Given the description of an element on the screen output the (x, y) to click on. 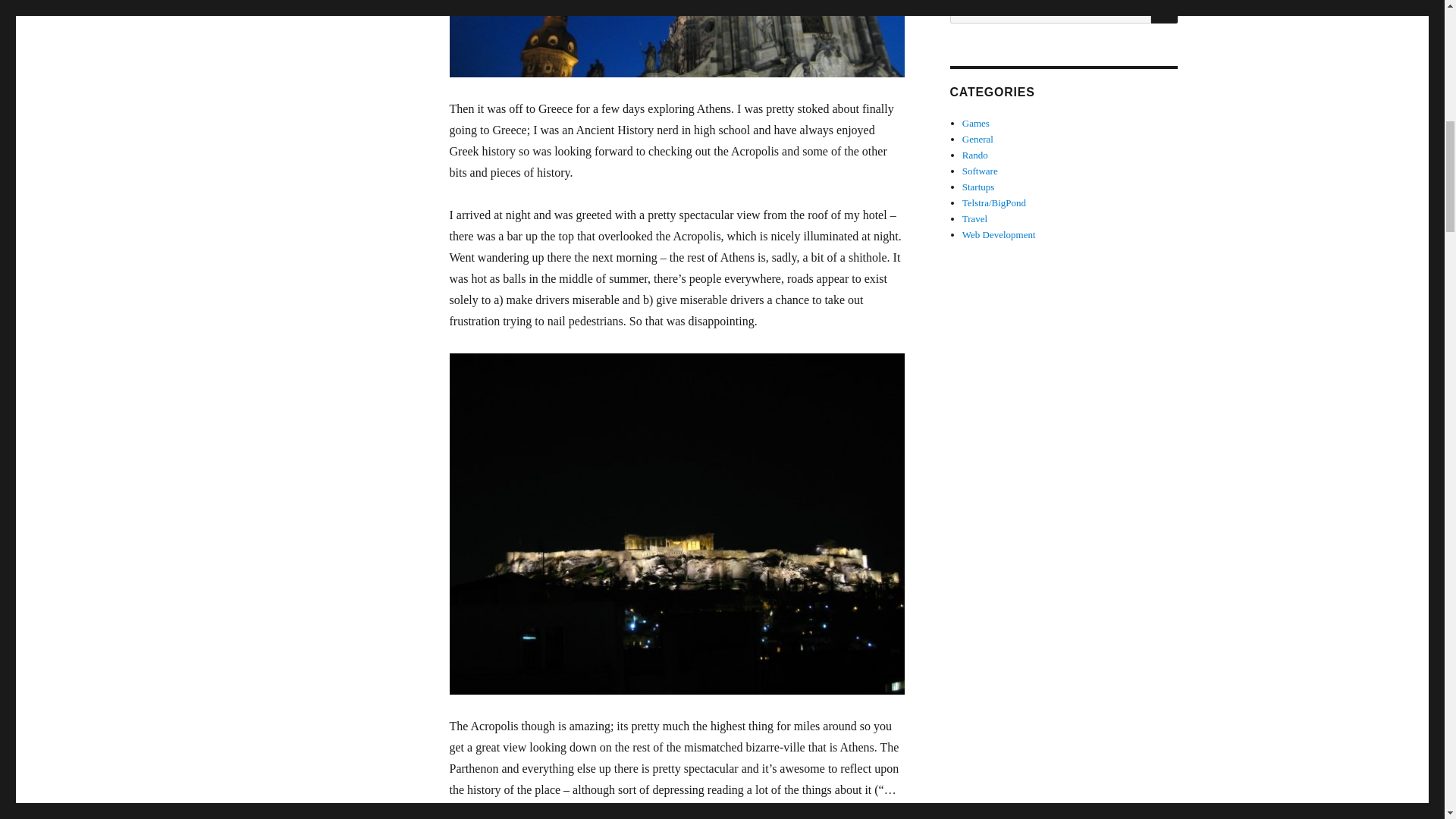
Rando (975, 154)
Software (979, 170)
Startups (978, 186)
Web Development (998, 234)
SEARCH (1164, 11)
Travel (974, 218)
Games (976, 122)
General (977, 138)
